Given the description of an element on the screen output the (x, y) to click on. 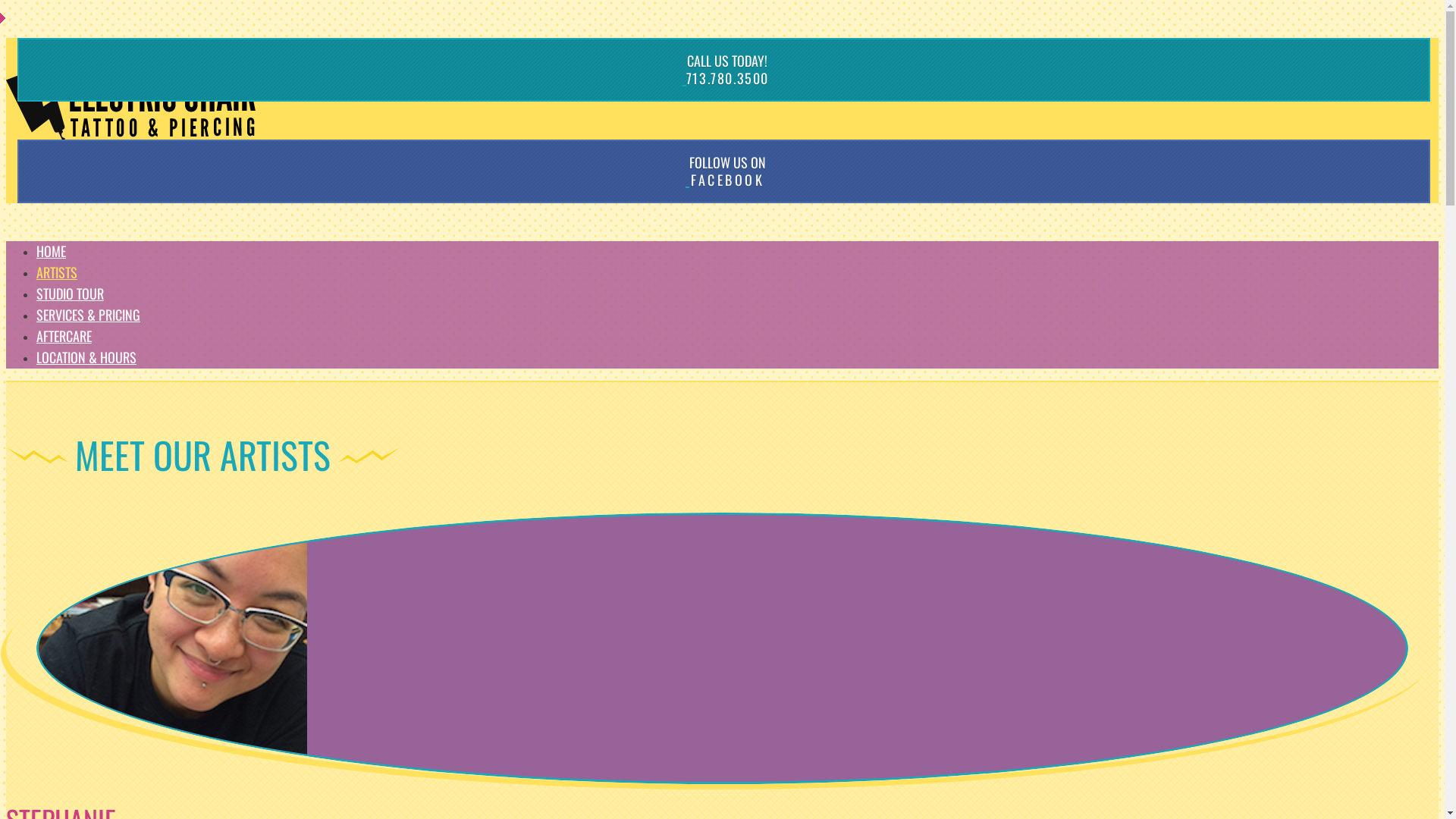
ARTISTS Element type: text (56, 272)
HOME Element type: text (50, 250)
LOCATION & HOURS Element type: text (86, 357)
SERVICES & PRICING Element type: text (88, 314)
CALL US TODAY!
713.780.3500 Element type: text (722, 69)
FOLLOW US ON
FACEBOOK Element type: text (722, 171)
AFTERCARE Element type: text (63, 335)
STUDIO TOUR Element type: text (69, 293)
